Given the description of an element on the screen output the (x, y) to click on. 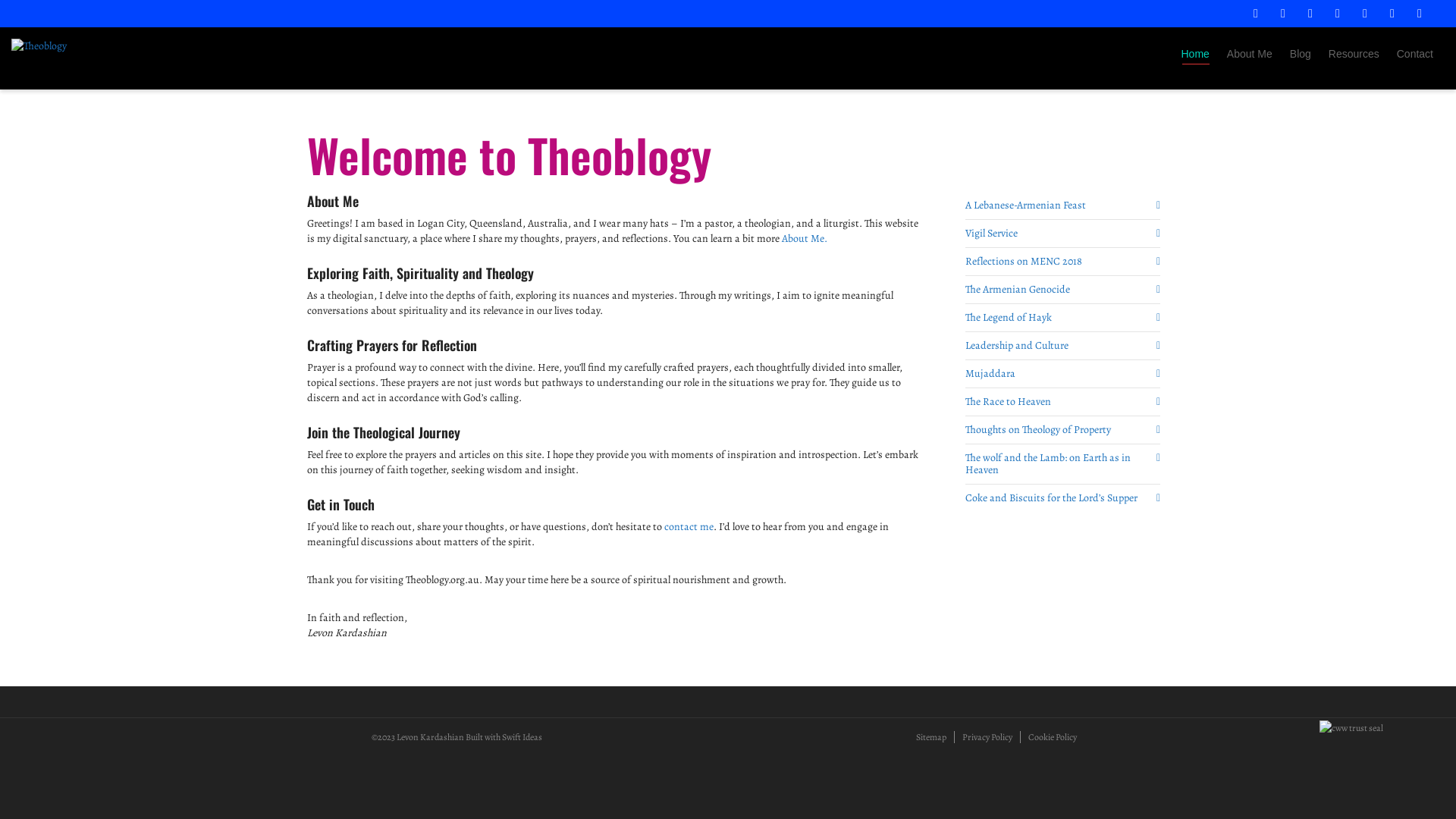
Home Element type: text (1195, 54)
Reflections on MENC 2018 Element type: text (1062, 261)
The Legend of Hayk Element type: text (1062, 317)
The wolf and the Lamb: on Earth as in Heaven Element type: text (1062, 463)
The Armenian Genocide Element type: text (1062, 289)
contact me Element type: text (688, 526)
Contact Element type: text (1414, 54)
Swift Ideas Element type: text (522, 737)
Sitemap Element type: text (931, 737)
Blog Element type: text (1300, 54)
Leadership and Culture Element type: text (1062, 345)
Mujaddara Element type: text (1062, 373)
About Me Element type: text (1249, 54)
Thoughts on Theology of Property Element type: text (1062, 429)
The Race to Heaven Element type: text (1062, 401)
Resources Element type: text (1353, 54)
About Me. Element type: text (804, 238)
Privacy Policy Element type: text (987, 737)
Vigil Service Element type: text (1062, 233)
Cookie Policy Element type: text (1052, 737)
A Lebanese-Armenian Feast Element type: text (1062, 205)
